Given the description of an element on the screen output the (x, y) to click on. 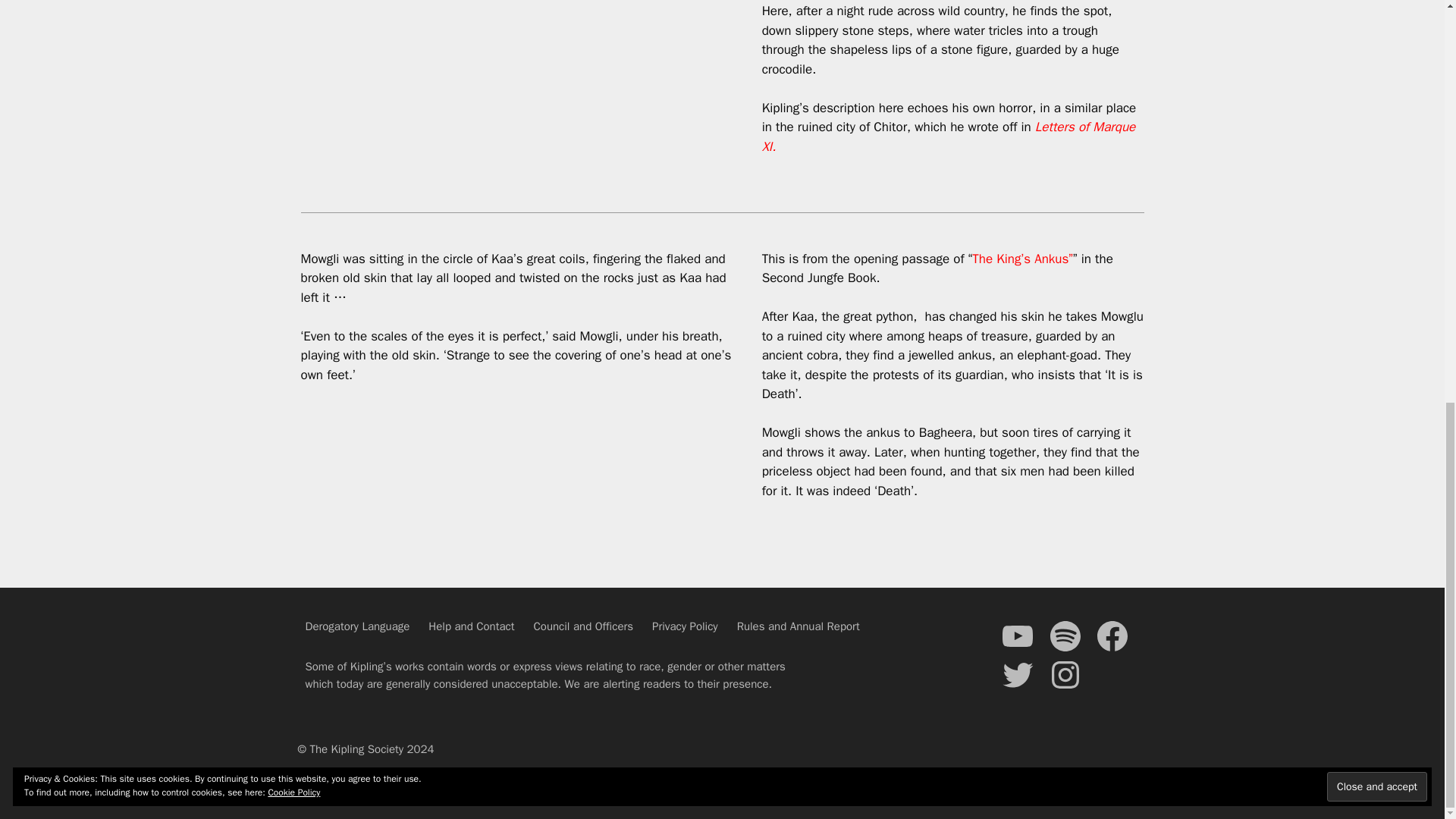
Spotify (1064, 636)
Scroll back to top (1406, 747)
YouTube (1016, 636)
Close and accept (1376, 4)
Privacy Policy (684, 626)
Facebook (1112, 636)
Close and accept (1376, 4)
Letters of Marque XI. (948, 136)
Help and Contact (470, 626)
Twitter (1016, 674)
Rules and Annual Report (798, 626)
Instagram (1064, 674)
Council and Officers (583, 626)
Derogatory Language (356, 626)
